Given the description of an element on the screen output the (x, y) to click on. 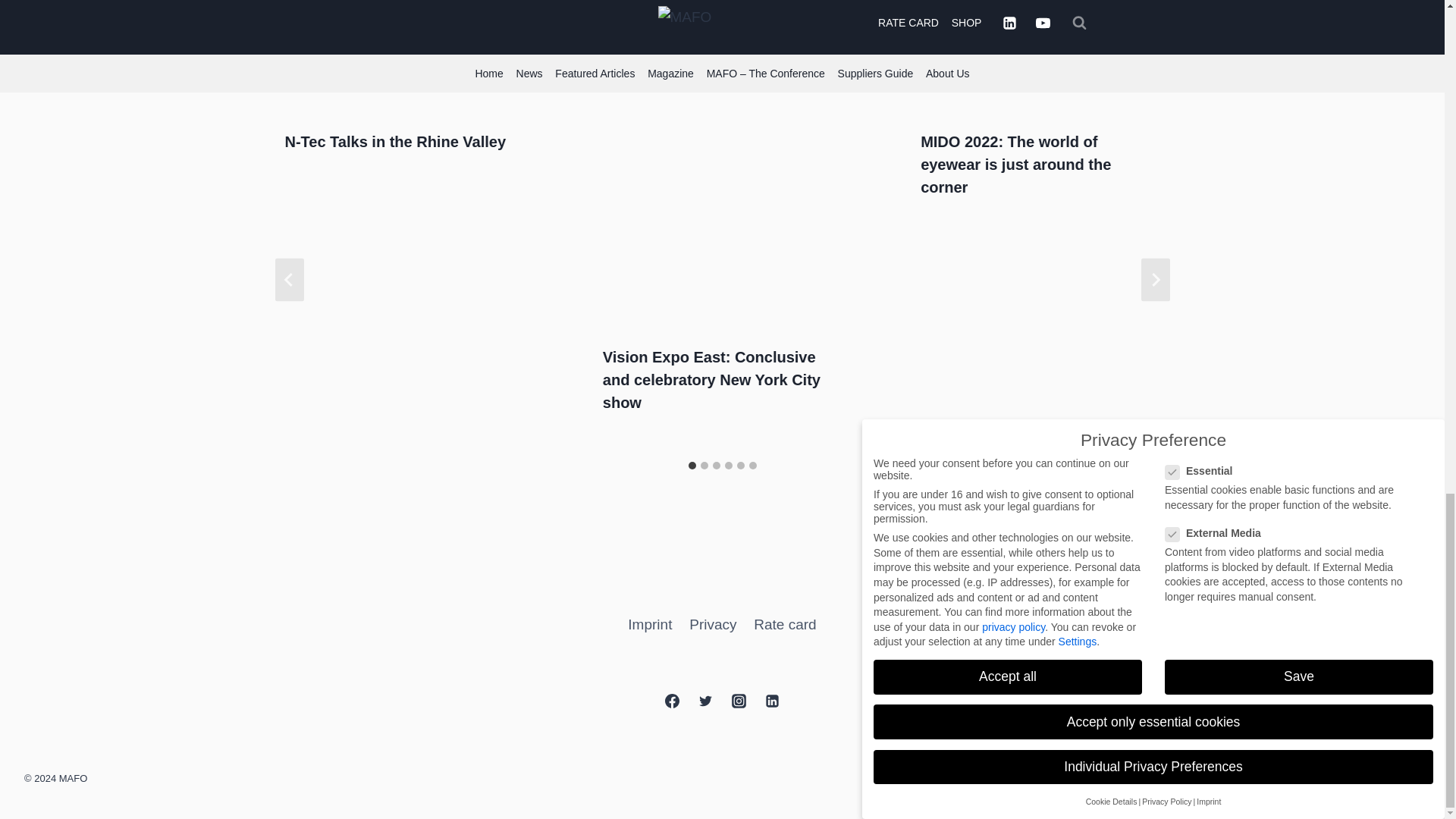
N-Tec Talks in the Rhine Valley (394, 141)
MIDO 2022: The world of eyewear is just around the corner (1015, 164)
